Given the description of an element on the screen output the (x, y) to click on. 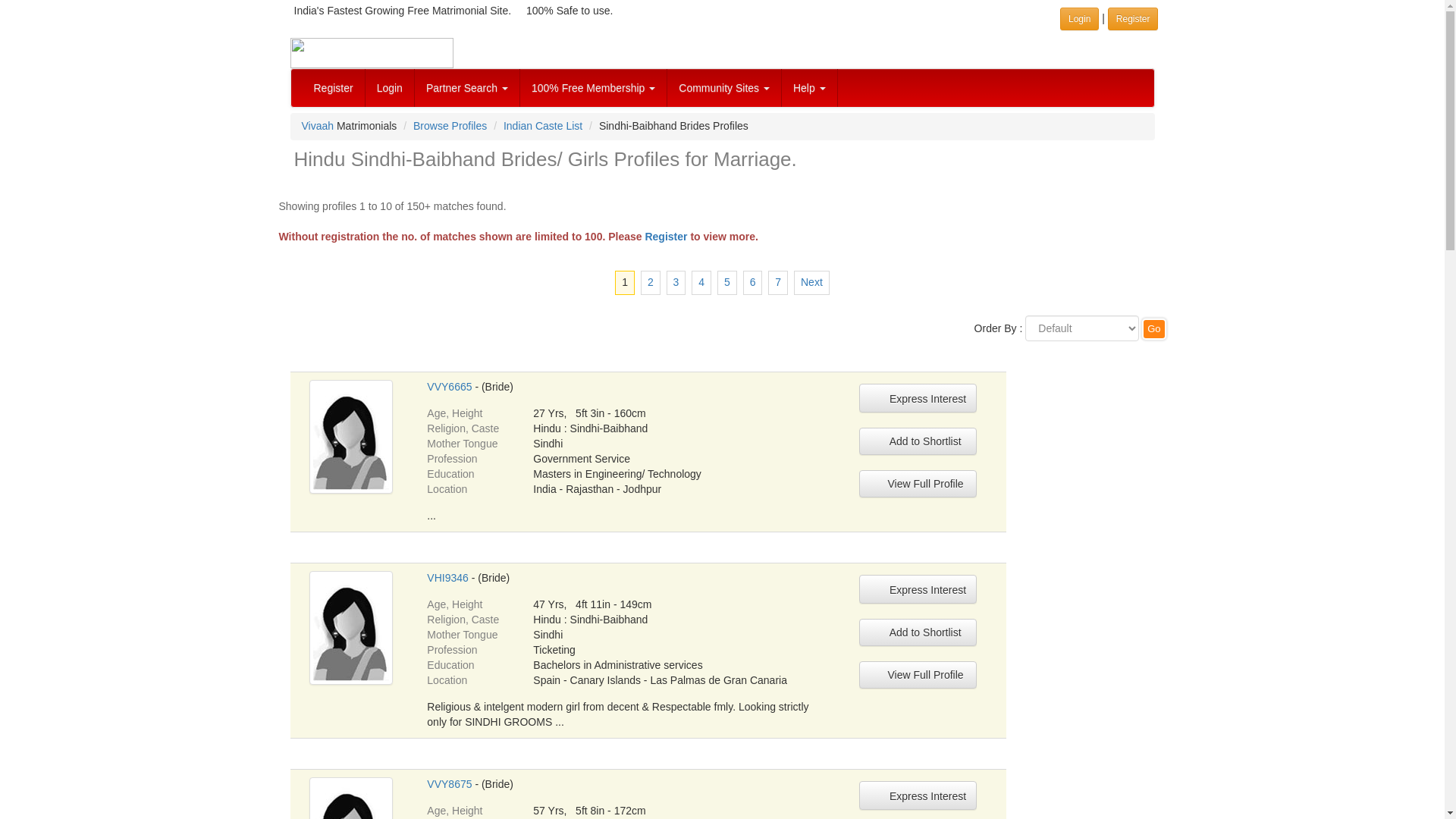
Membership Plans (592, 87)
Help (809, 87)
Go to page 7 (777, 282)
Go (1153, 329)
Community Sites (723, 87)
Go to page 6 (752, 282)
Register (1133, 18)
Go to page 5 (726, 282)
Go to page 3 (675, 282)
Login (1079, 18)
Login (389, 87)
Register (333, 87)
Partner Search (466, 87)
Vivaah (317, 125)
Go to page 4 (701, 282)
